Given the description of an element on the screen output the (x, y) to click on. 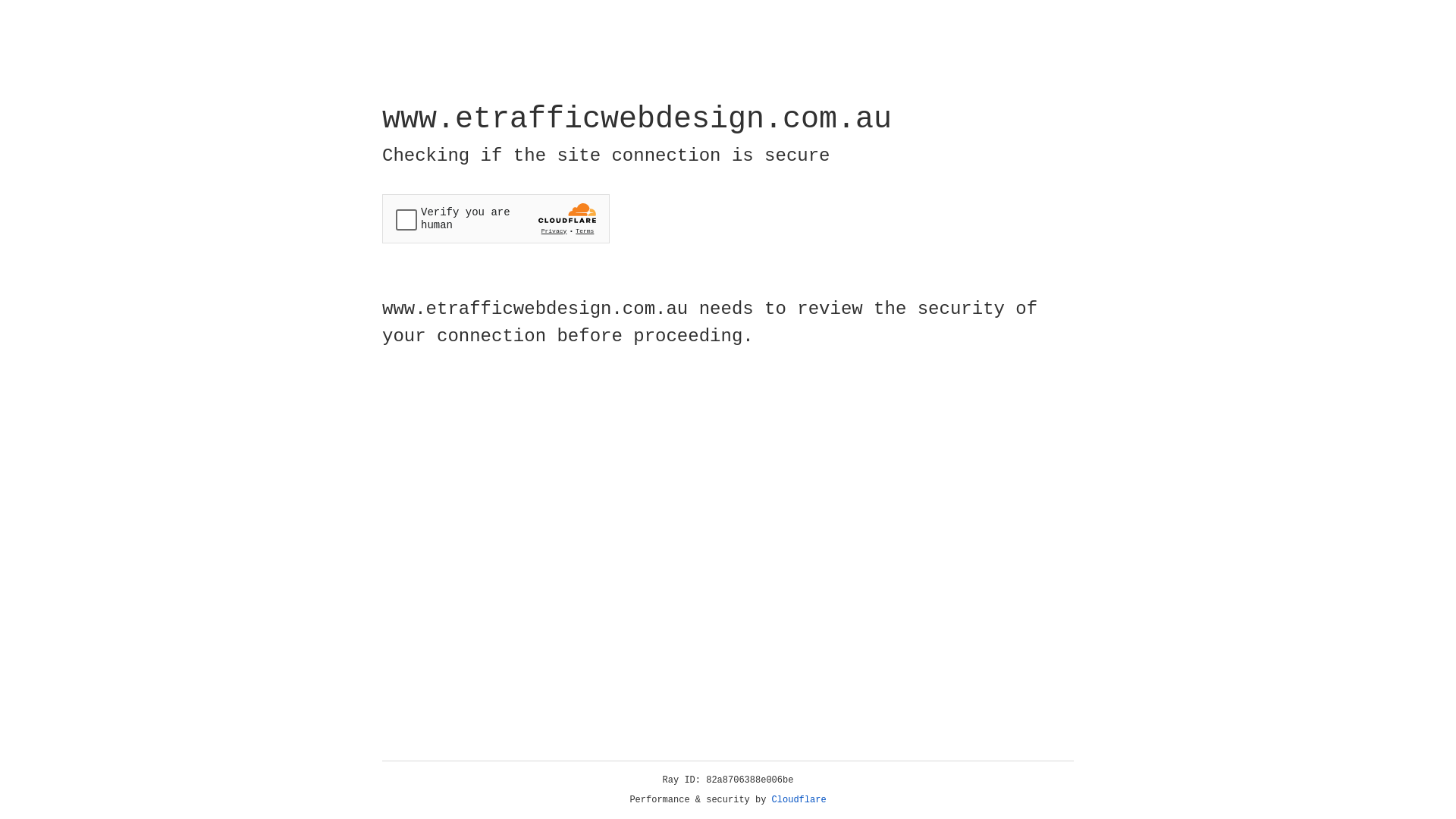
Widget containing a Cloudflare security challenge Element type: hover (495, 218)
Cloudflare Element type: text (798, 799)
